Given the description of an element on the screen output the (x, y) to click on. 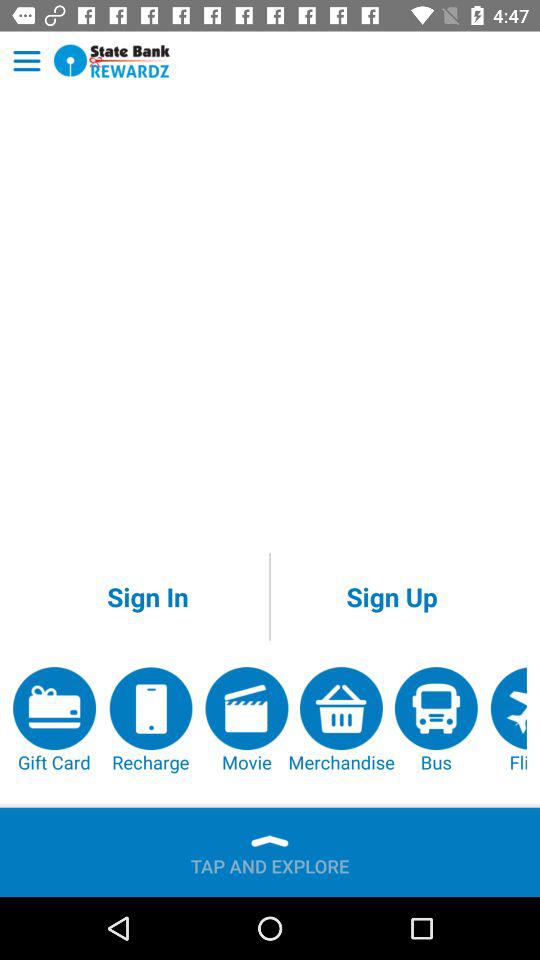
swipe to gift card icon (54, 720)
